Given the description of an element on the screen output the (x, y) to click on. 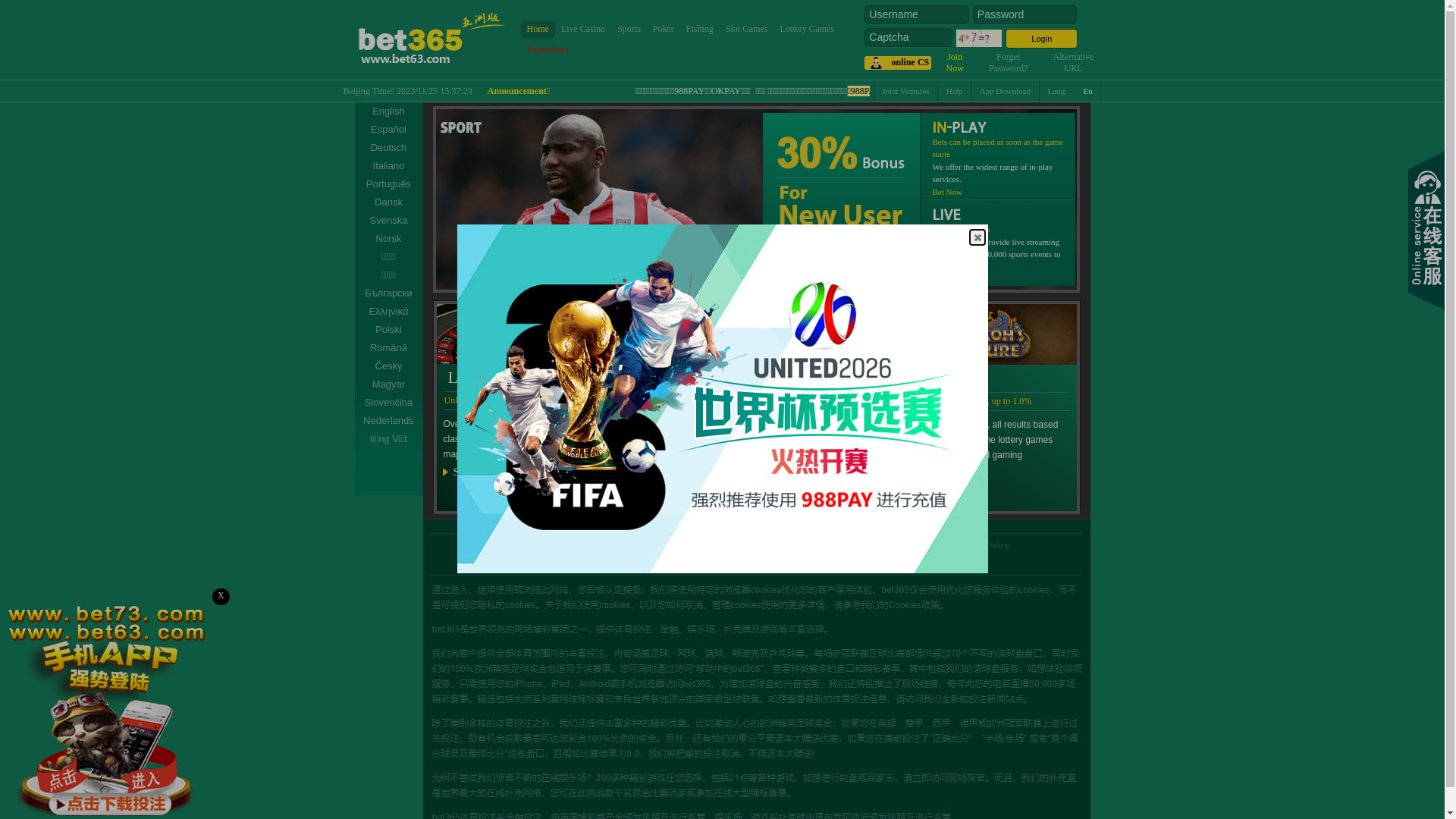
Responsible Gambling Element type: text (544, 544)
Forget Password? Element type: text (1008, 62)
Poker Element type: text (663, 28)
Home Element type: text (537, 28)
Svenska Element type: text (388, 220)
Alternative URL Element type: text (1073, 62)
Joint Ventures Element type: text (905, 90)
Joint Ventures Element type: text (813, 544)
Contact Us Element type: text (919, 544)
Fishing Element type: text (699, 28)
Fair Compensation Element type: text (739, 544)
Deutsch Element type: text (388, 147)
Italiano Element type: text (388, 165)
online CS Element type: text (897, 62)
Live Casino Element type: text (583, 28)
Promotions Element type: text (547, 49)
Privacy Policy Element type: text (663, 544)
Norsk Element type: text (388, 238)
App Download Element type: text (1005, 90)
Dansk Element type: text (388, 202)
Polski Element type: text (388, 329)
Sports Element type: text (628, 28)
Magyar Element type: text (388, 384)
Login Element type: text (1041, 38)
Help Element type: text (954, 90)
Cookies Policy Element type: text (981, 544)
En Element type: text (1088, 90)
Join Now Element type: text (954, 62)
Close Element type: hover (977, 236)
Terms Element type: text (611, 544)
Slot Games Element type: text (746, 28)
Deposits Element type: text (869, 544)
Lottery Games Element type: text (807, 28)
Nederlands Element type: text (388, 420)
English Element type: text (388, 111)
